Given the description of an element on the screen output the (x, y) to click on. 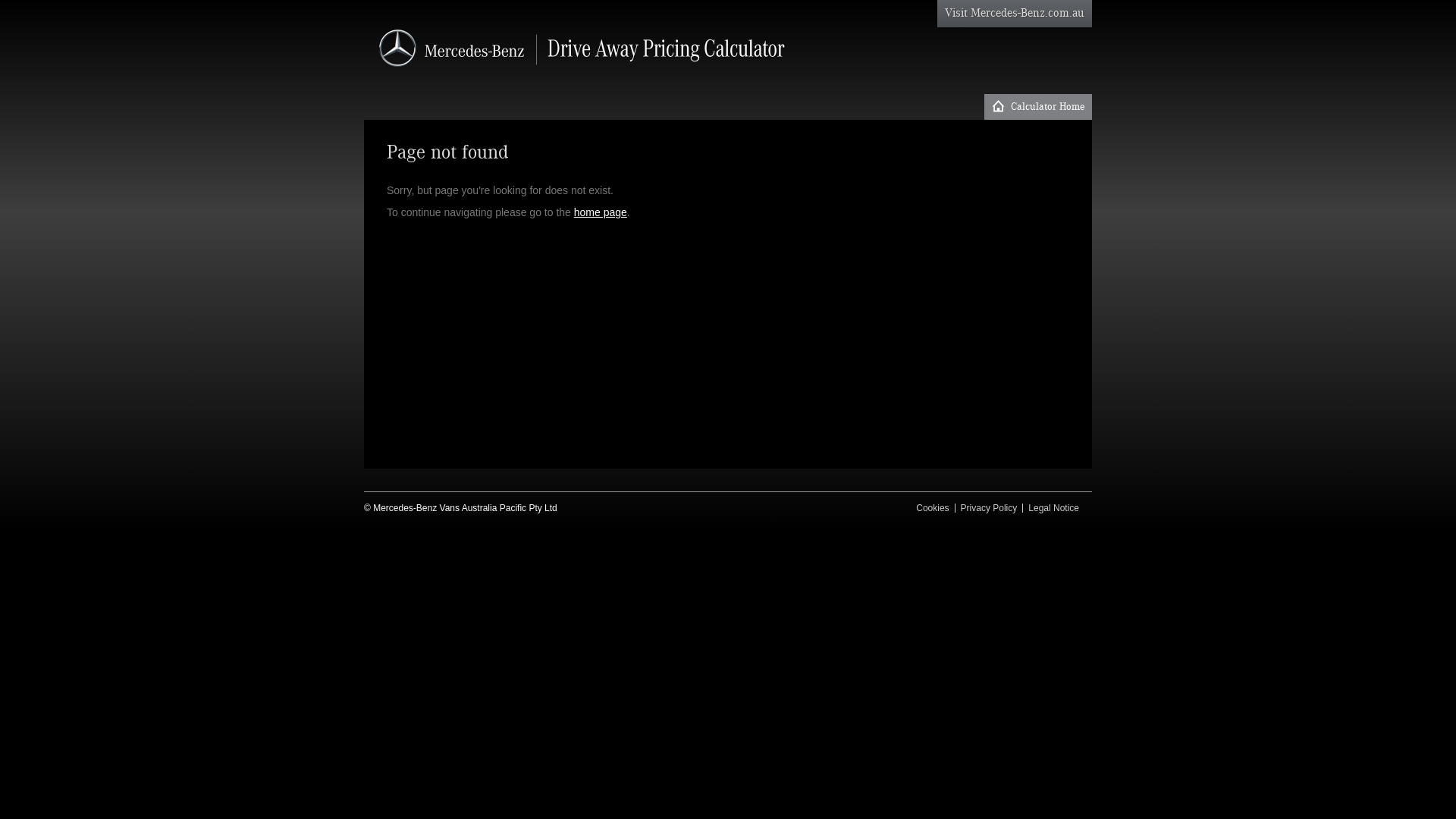
Legal Notice Element type: text (1053, 507)
Visit Mercedes-Benz.com.au Element type: text (1014, 13)
Cookies Element type: text (931, 507)
Calculator Home Element type: text (1038, 106)
Privacy Policy Element type: text (988, 507)
home page Element type: text (600, 212)
